Given the description of an element on the screen output the (x, y) to click on. 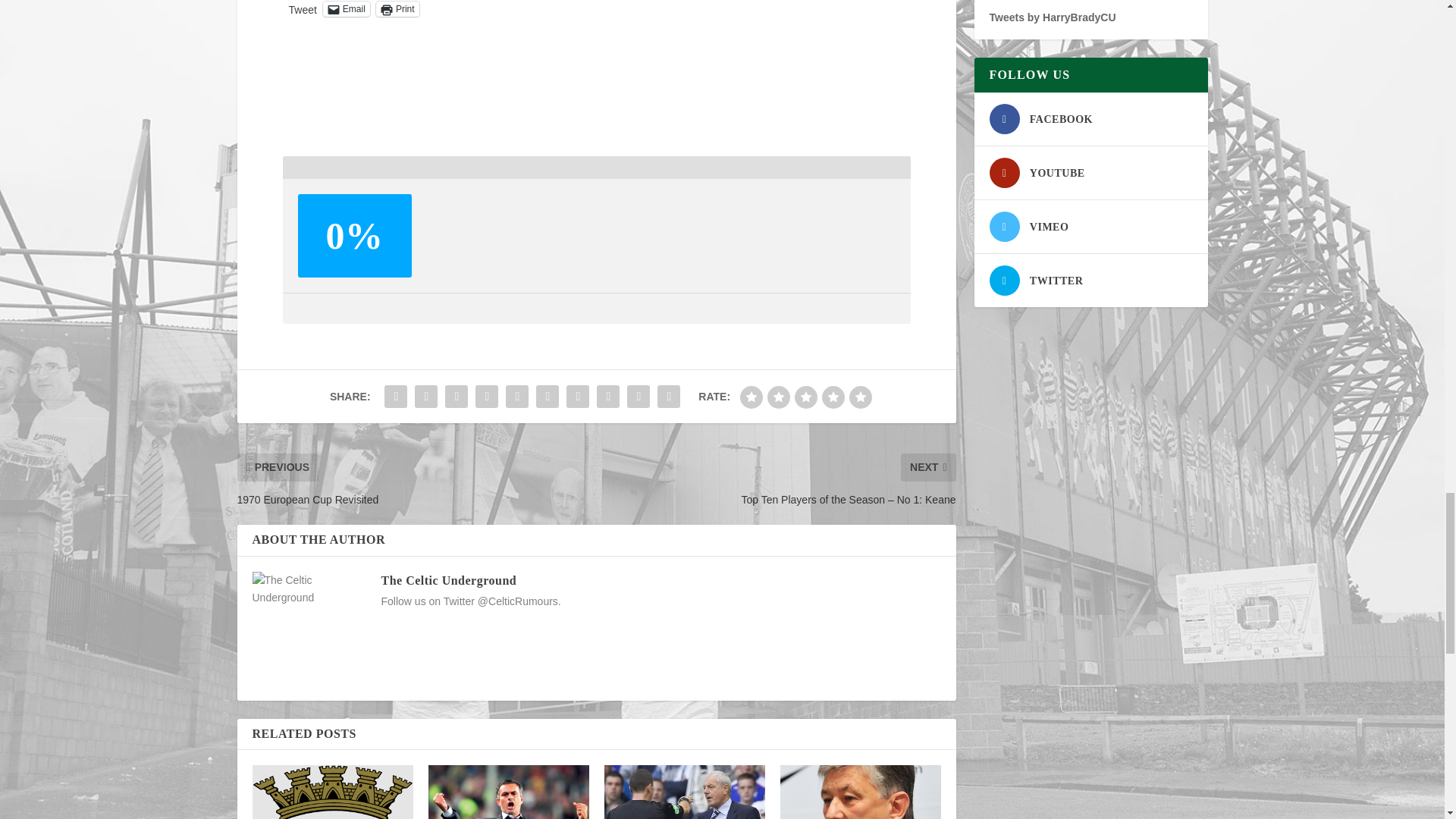
Click to print (397, 8)
bad (750, 396)
Click to email a link to a friend (346, 8)
